Given the description of an element on the screen output the (x, y) to click on. 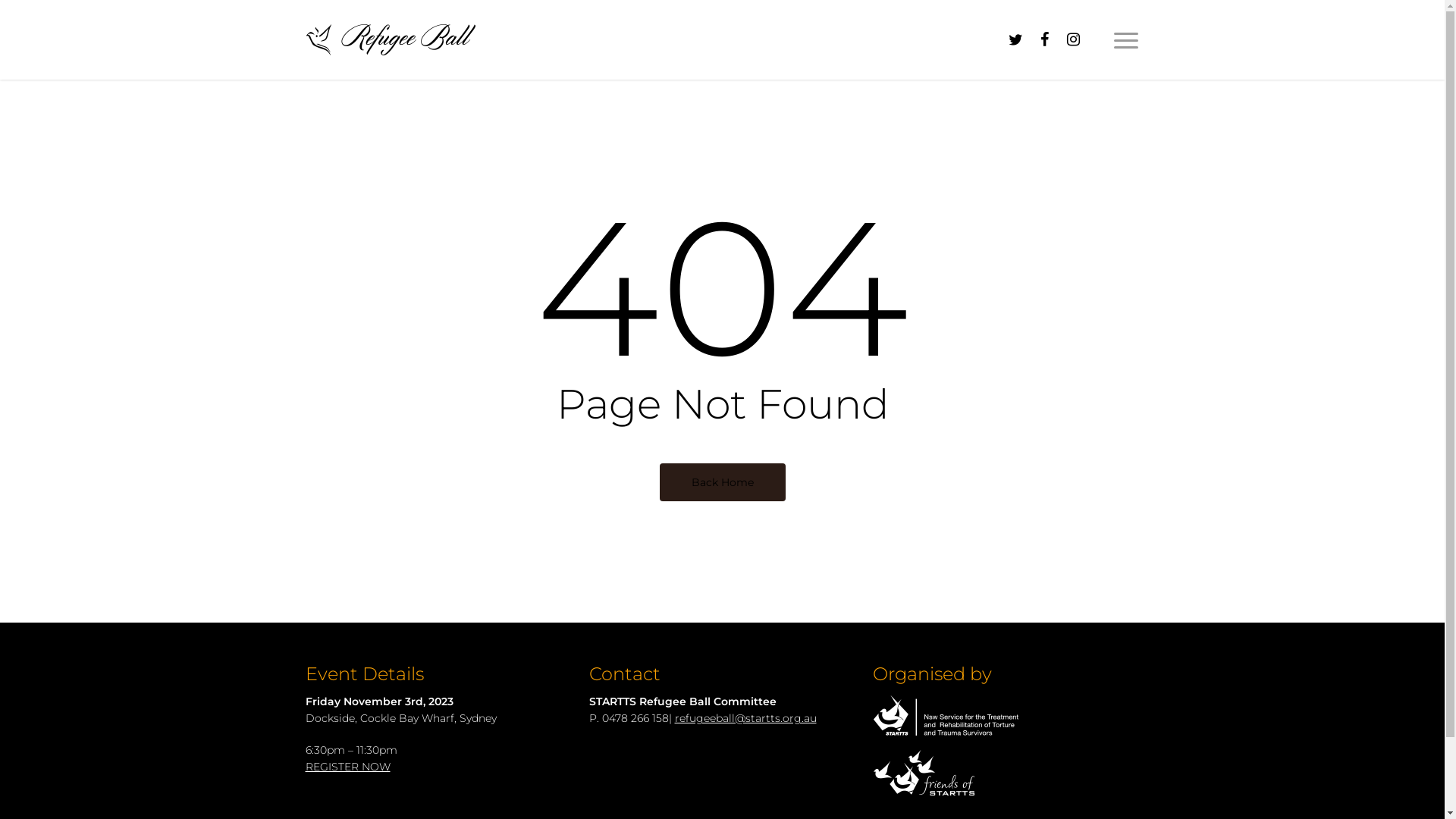
instagram Element type: text (1072, 39)
twitter Element type: text (1015, 39)
refugeeball@startts.org.au Element type: text (745, 717)
Back Home Element type: text (722, 482)
facebook Element type: text (1043, 39)
REGISTER NOW Element type: text (346, 766)
Menu Element type: text (1126, 39)
